Given the description of an element on the screen output the (x, y) to click on. 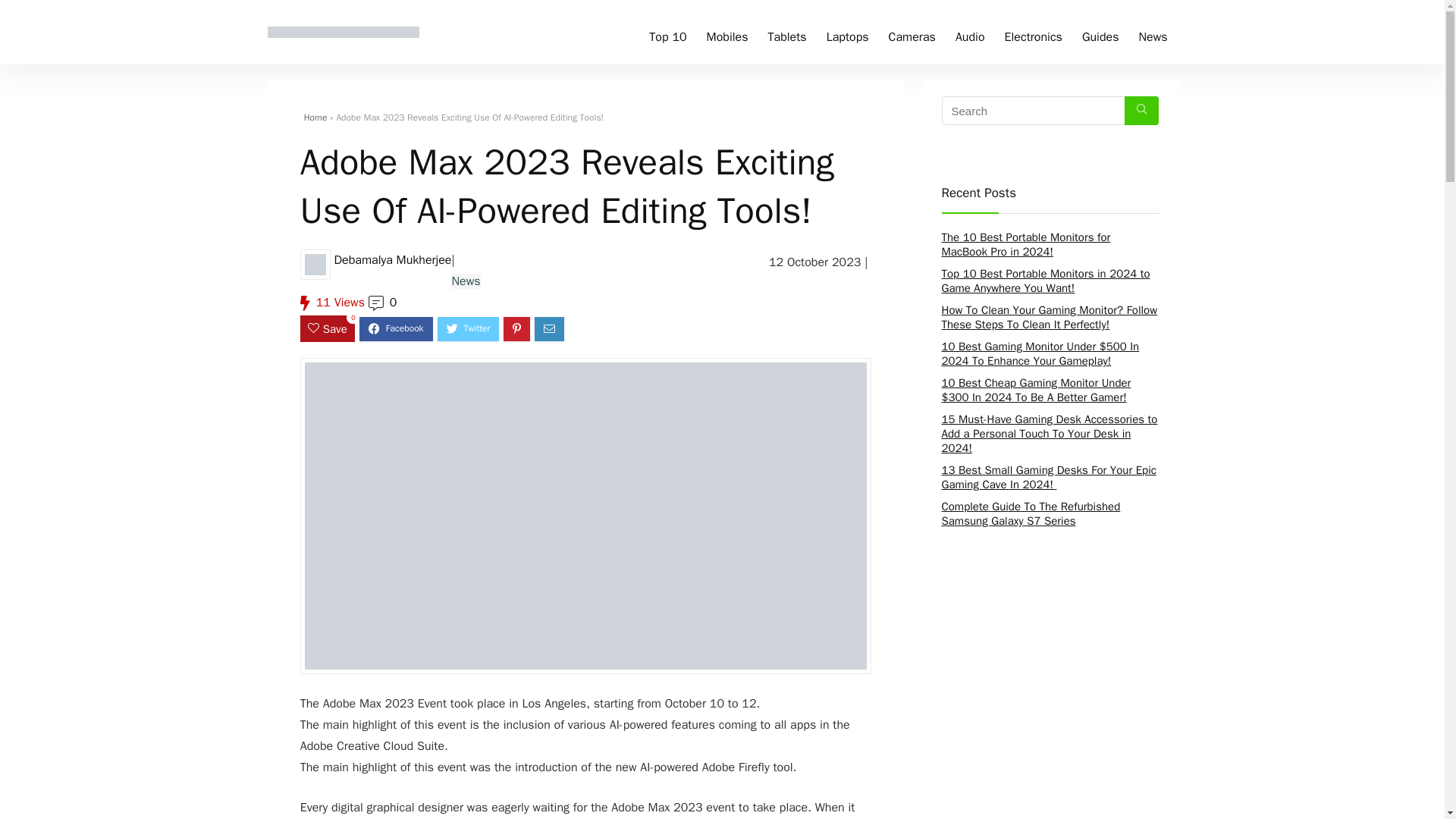
Tablets (787, 32)
Electronics (1032, 32)
Top 10 (667, 32)
Laptops (847, 32)
Home (315, 117)
Guides (1100, 32)
Cameras (911, 32)
Mobiles (727, 32)
